Given the description of an element on the screen output the (x, y) to click on. 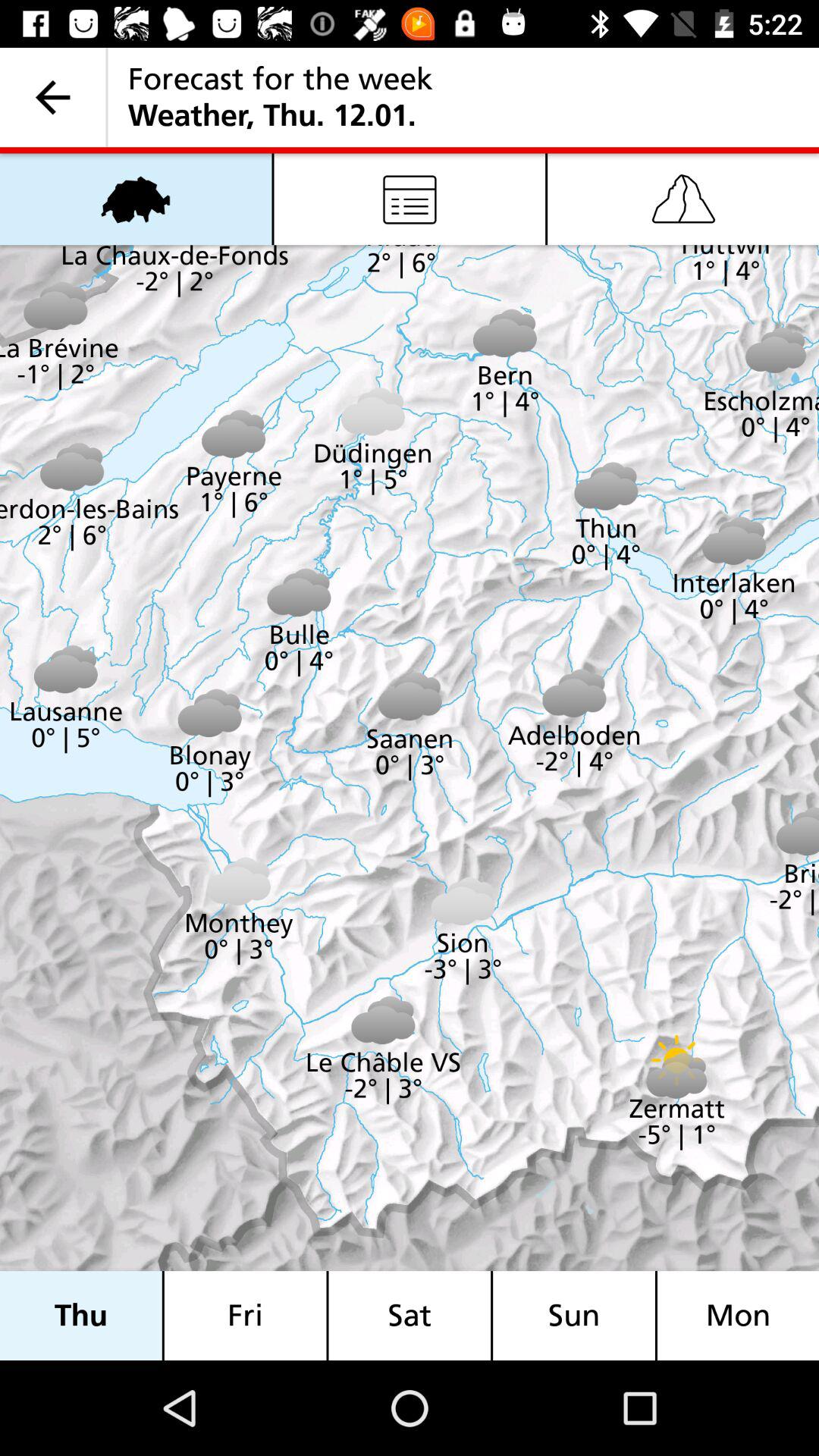
tap item to the left of the sat icon (245, 1315)
